Given the description of an element on the screen output the (x, y) to click on. 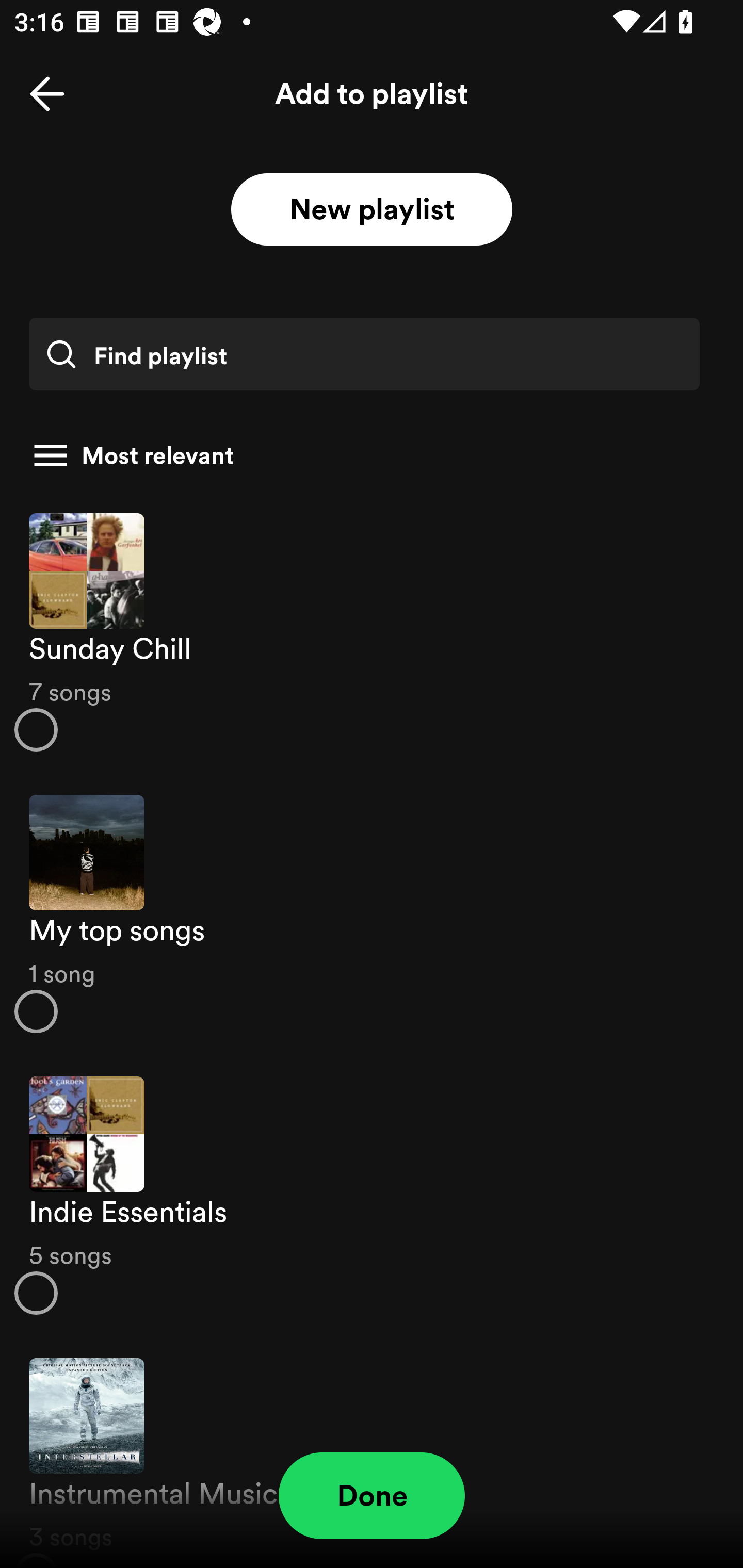
Back (46, 93)
New playlist (371, 210)
Find playlist (363, 354)
Most relevant (363, 455)
Sunday Chill 7 songs (371, 631)
My top songs 1 song (371, 914)
Indie Essentials 5 songs (371, 1195)
Instrumental Music 3 songs (371, 1451)
Done (371, 1495)
